Given the description of an element on the screen output the (x, y) to click on. 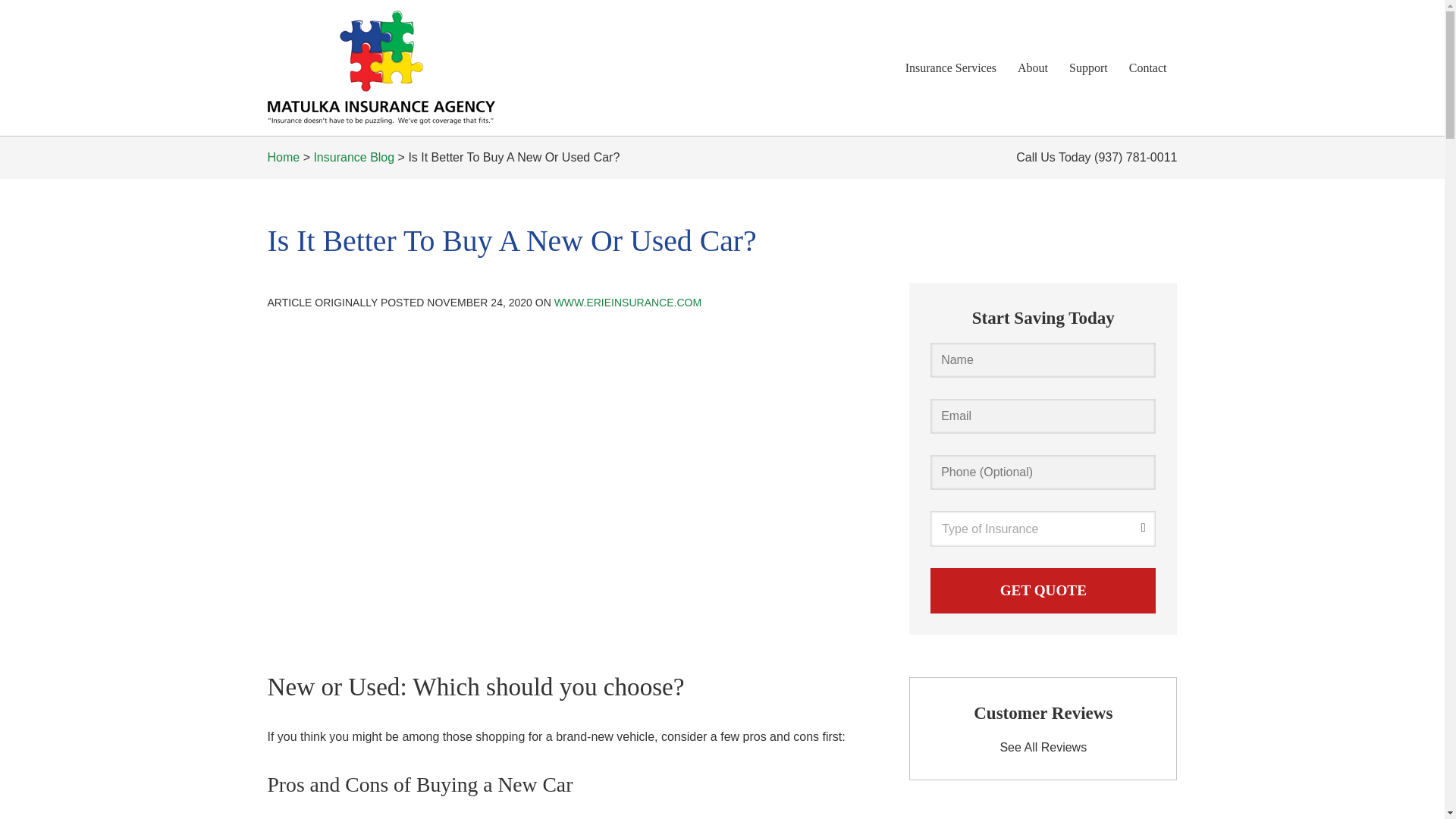
Support (1088, 67)
Home Page (411, 67)
Matulka Insurance Agency (380, 67)
Get Quote (1043, 590)
About (1032, 67)
Insurance Services (951, 67)
